Given the description of an element on the screen output the (x, y) to click on. 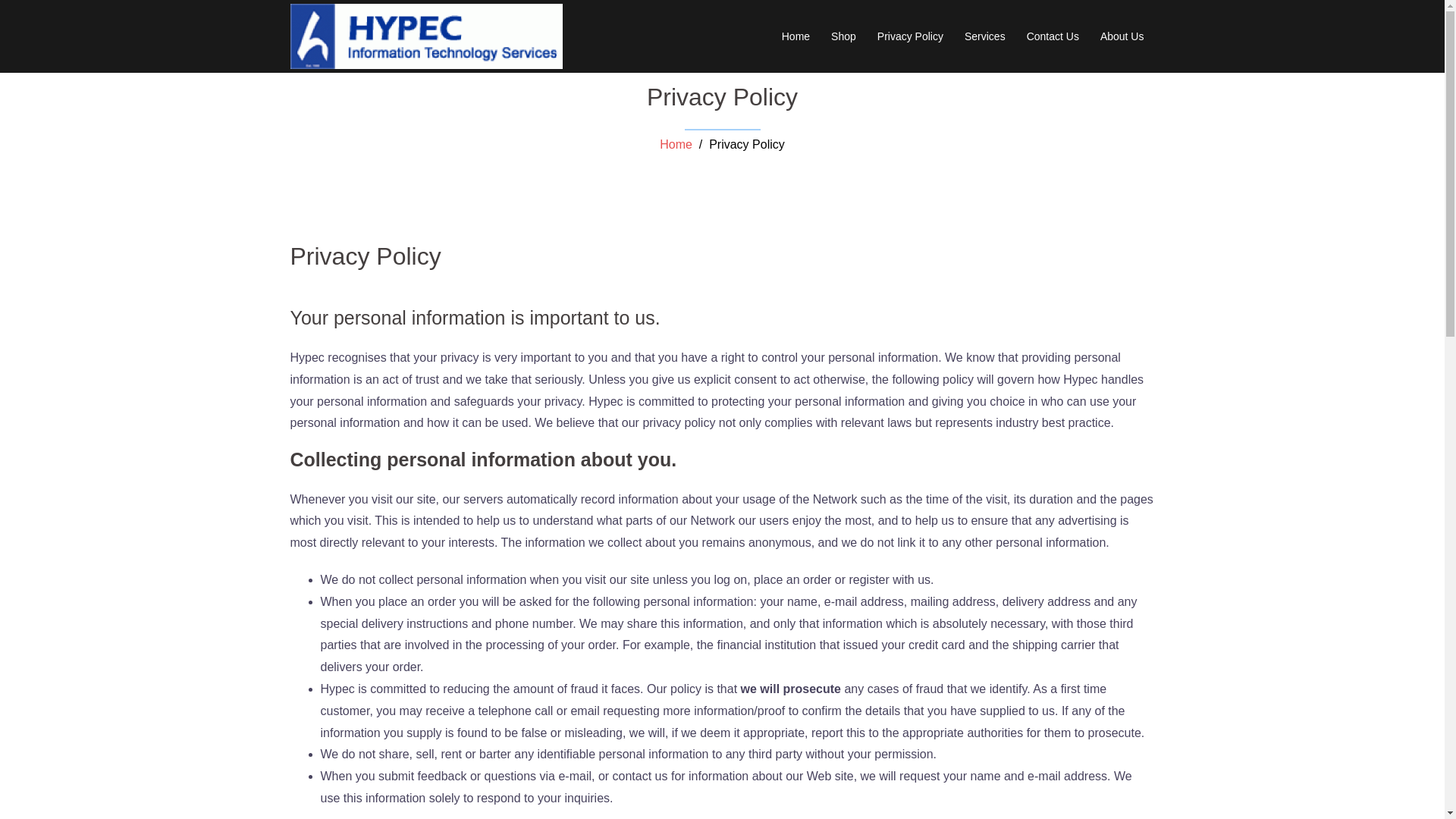
HYPEC IT S (425, 34)
Shop (843, 36)
Contact Us (1052, 36)
Home (795, 36)
Privacy Policy (910, 36)
Home (676, 144)
Services (984, 36)
About Us (1122, 36)
